Given the description of an element on the screen output the (x, y) to click on. 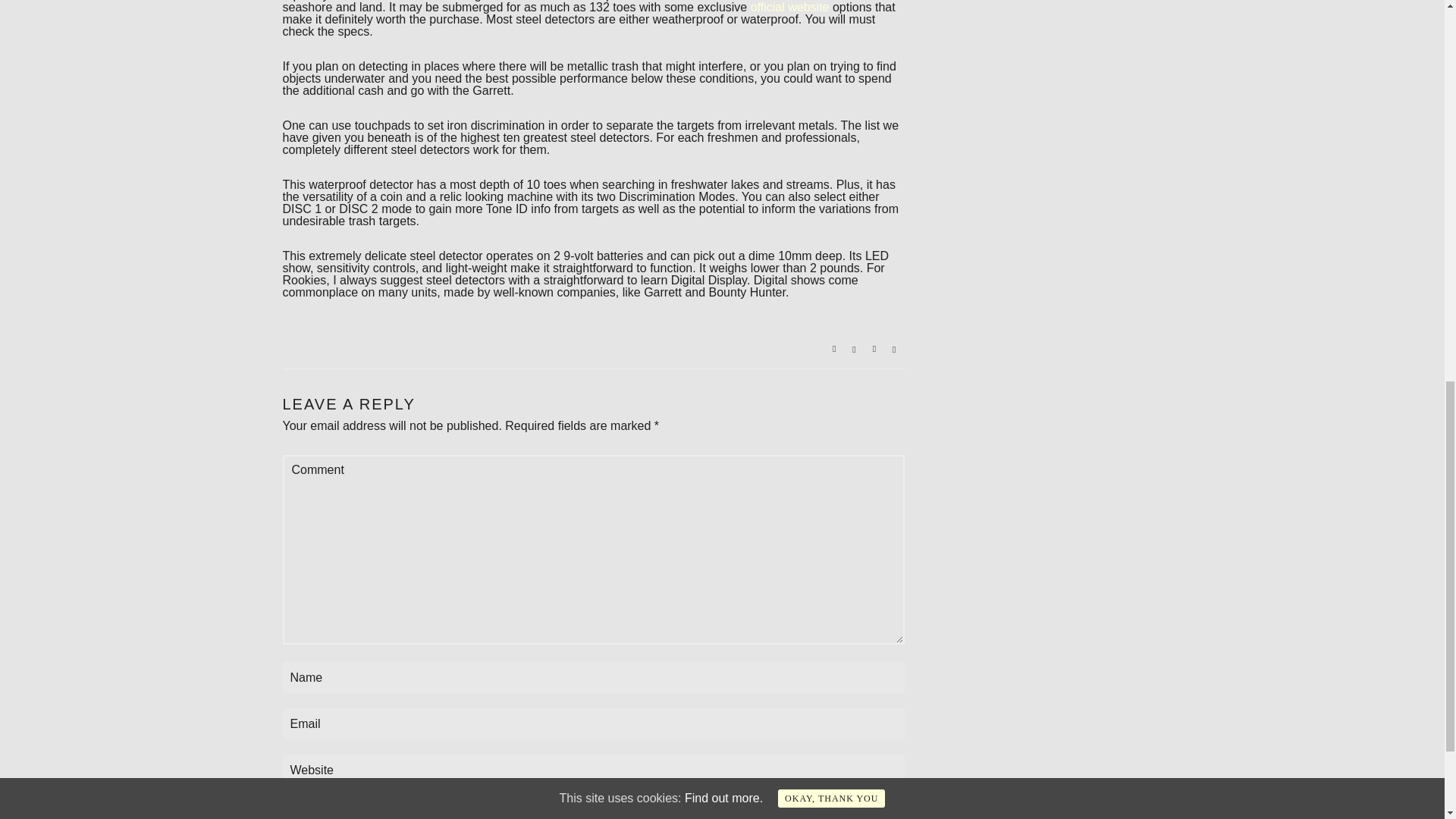
official website (790, 6)
Submit (314, 813)
Submit (314, 813)
